Given the description of an element on the screen output the (x, y) to click on. 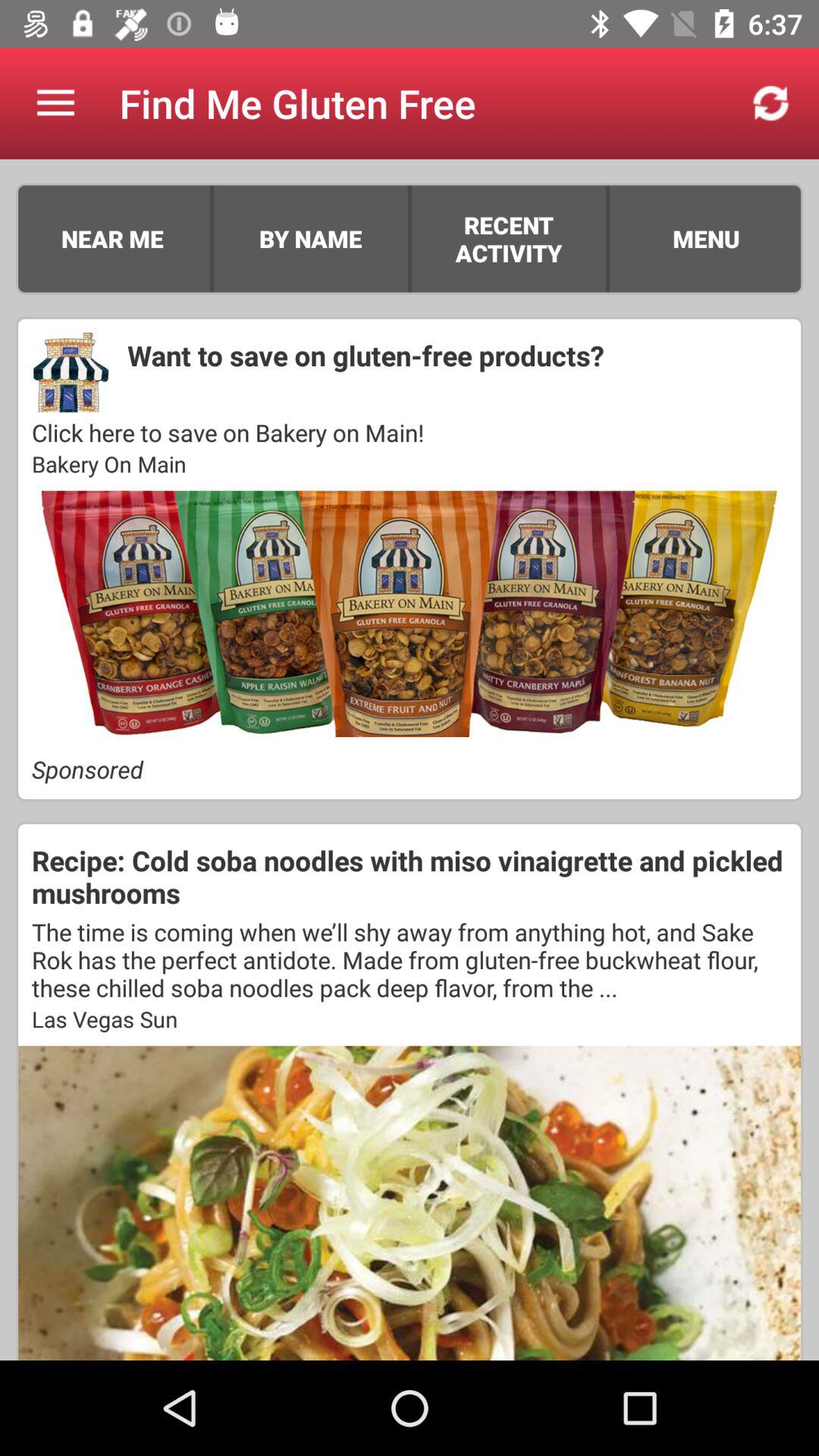
launch the item above want to save (607, 238)
